Given the description of an element on the screen output the (x, y) to click on. 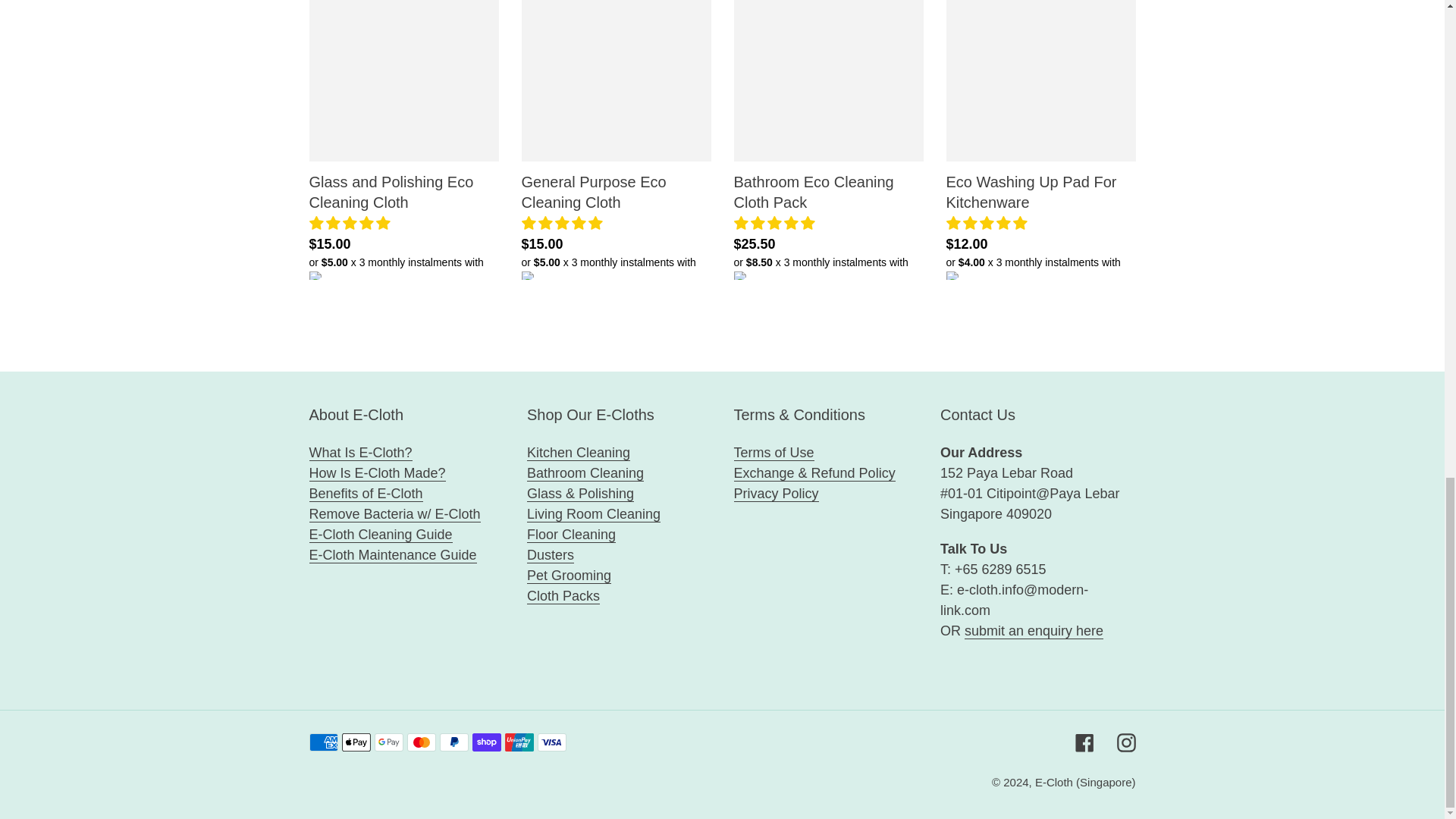
Contact Us (1033, 631)
How To Wash Your E-Cloth Microfiber Cloths (392, 555)
Dusting (550, 555)
Pet Grooming (569, 575)
Does E-Cloth Remove Bacteria? (394, 514)
E-Cloth Cleaning Guide (394, 545)
Living Room (594, 514)
Terms of Use (773, 453)
Privacy Policy (775, 494)
Cloth Packs (563, 596)
